Given the description of an element on the screen output the (x, y) to click on. 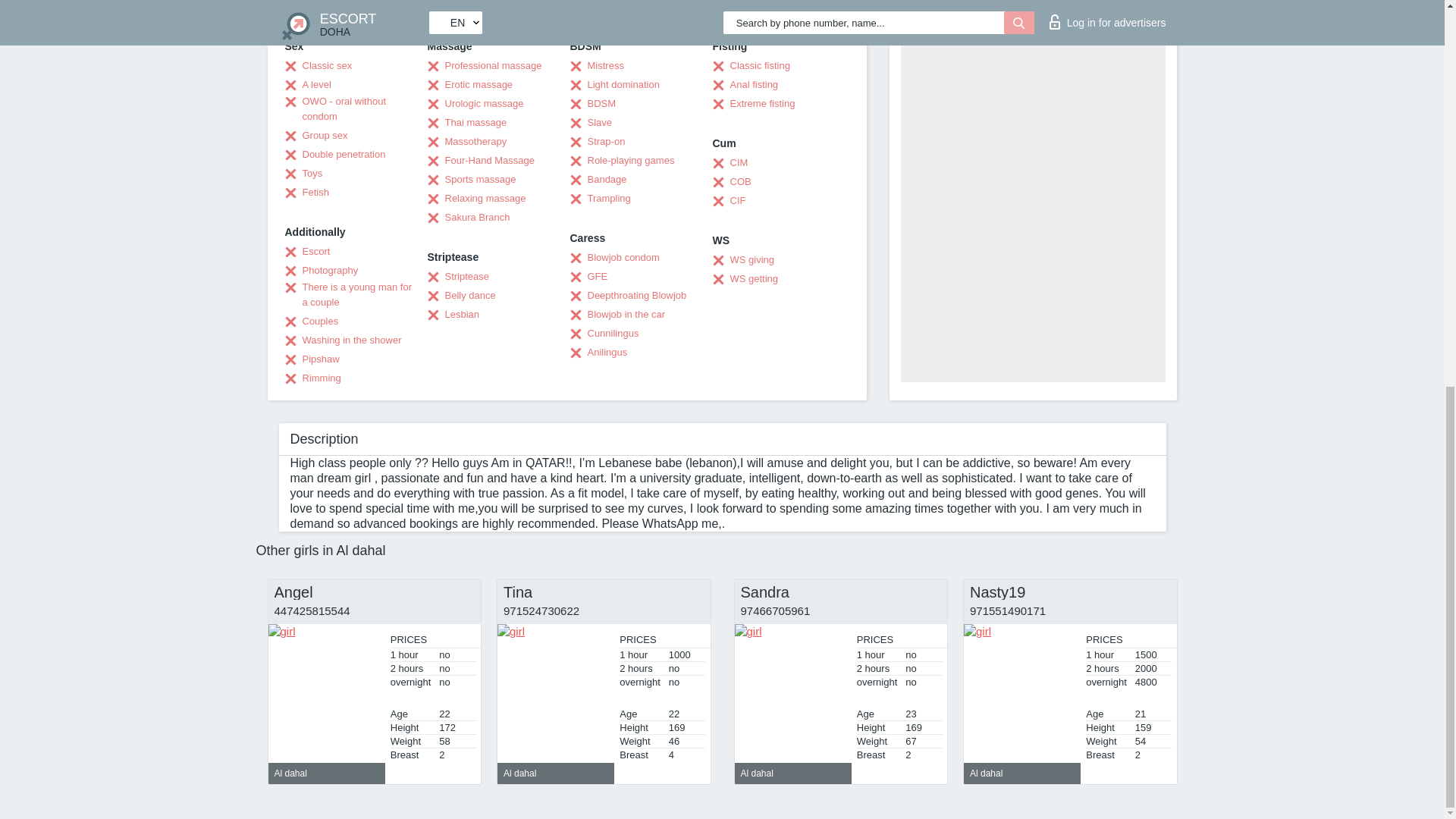
Urologic massage (476, 103)
Double penetration (335, 154)
Rimming (312, 378)
Washing in the shower (343, 340)
OWO - oral without condom (350, 109)
Massotherapy (467, 141)
There is a young man for a couple (350, 295)
Erotic massage (470, 84)
Four-Hand Massage (481, 160)
A level (308, 84)
Classic sex (318, 65)
Sports massage (472, 179)
Photography (321, 270)
Thai massage (467, 122)
Couples (312, 321)
